Given the description of an element on the screen output the (x, y) to click on. 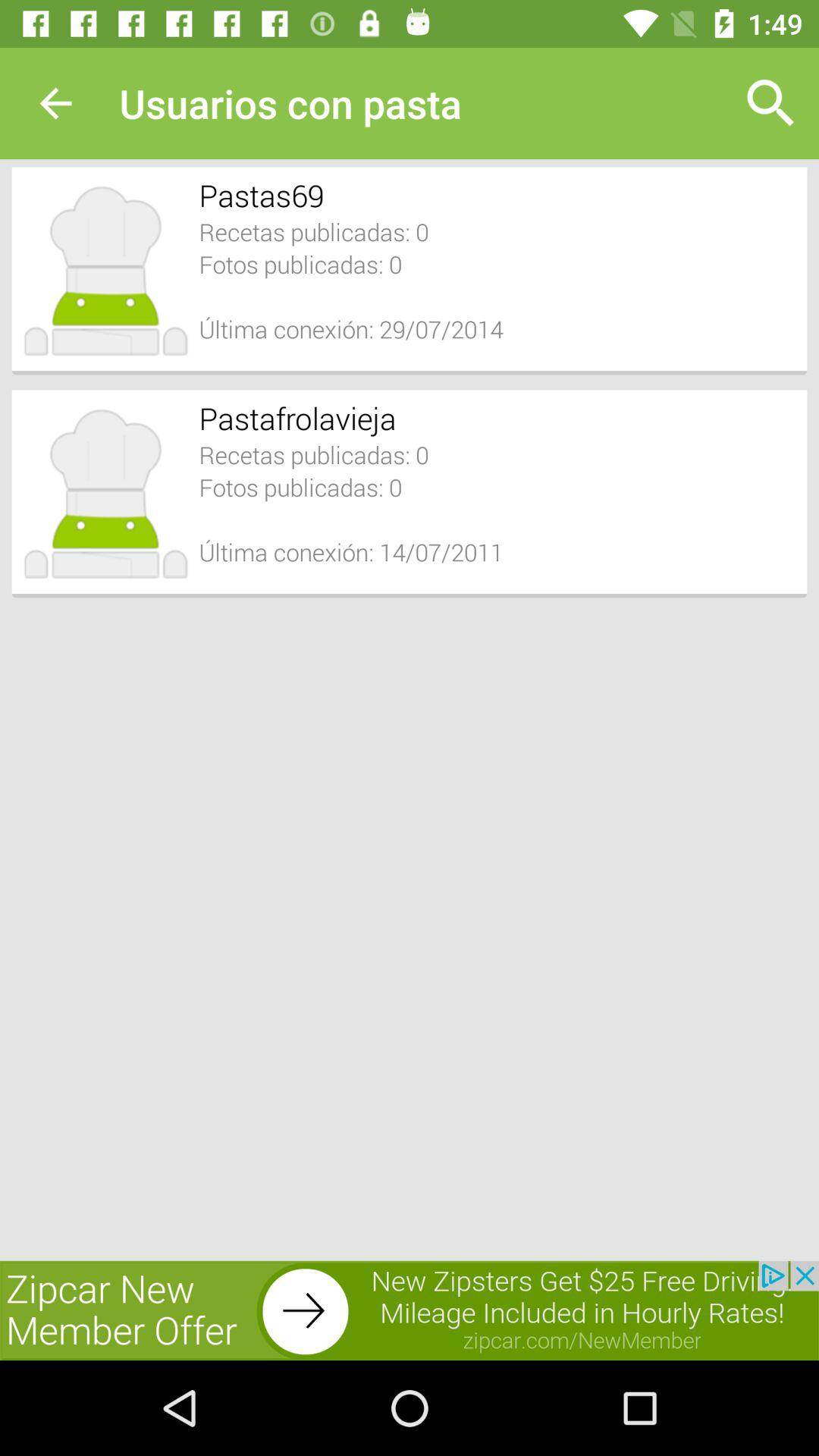
go to advertisement (409, 1310)
